Given the description of an element on the screen output the (x, y) to click on. 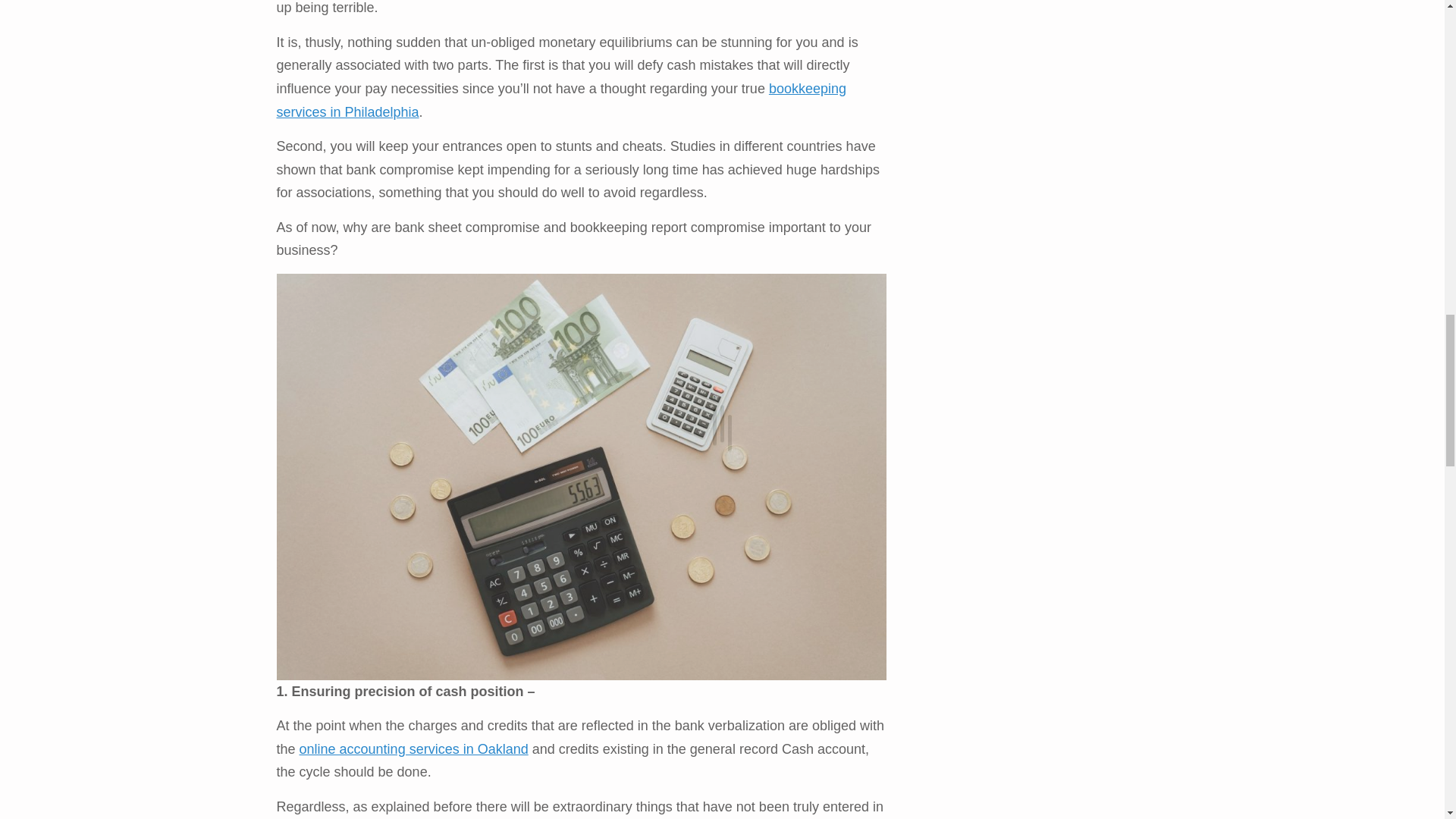
bookkeeping services in Philadelphia (560, 100)
online accounting services in Oakland (413, 749)
